Given the description of an element on the screen output the (x, y) to click on. 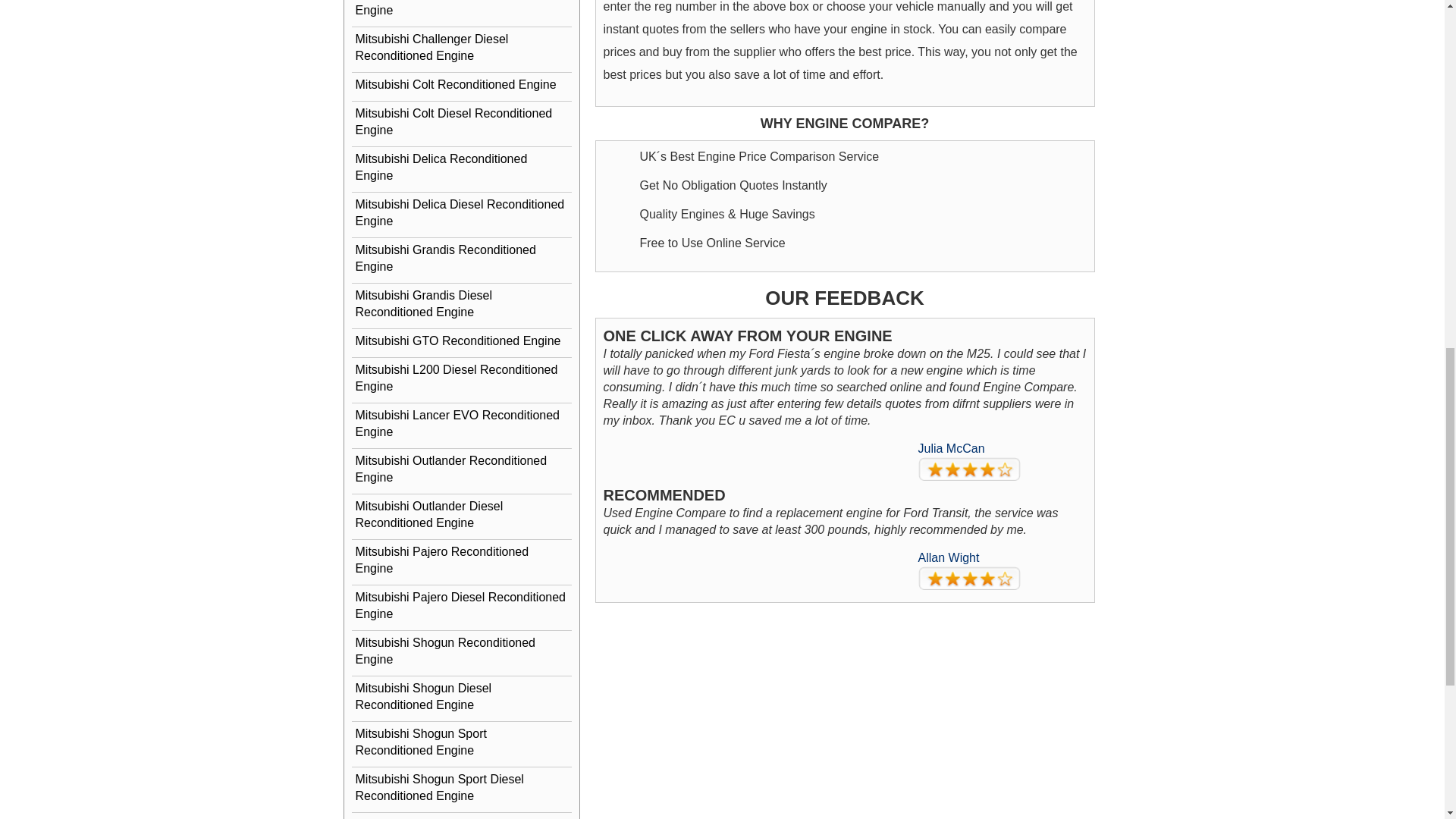
Mitsubishi Spacestar Reconditioned Engine (462, 816)
Mitsubishi Grandis Diesel Reconditioned Engine (462, 303)
Mitsubishi GTO Reconditioned Engine (462, 340)
Mitsubishi Delica Reconditioned Engine (462, 167)
Mitsubishi Outlander Diesel Reconditioned Engine (462, 514)
Mitsubishi Grandis Reconditioned Engine (462, 258)
Mitsubishi Lancer EVO Reconditioned Engine (462, 423)
Mitsubishi Challenger Diesel Reconditioned Engine (462, 47)
Mitsubishi Pajero Reconditioned Engine (462, 559)
Mitsubishi Colt Reconditioned Engine (462, 84)
Mitsubishi Shogun Sport Diesel Reconditioned Engine (462, 787)
Mitsubishi Delica Diesel Reconditioned Engine (462, 212)
Mitsubishi Outlander Reconditioned Engine (462, 468)
Mitsubishi Shogun Diesel Reconditioned Engine (462, 696)
Mitsubishi Challanger Reconditioned Engine (462, 11)
